Given the description of an element on the screen output the (x, y) to click on. 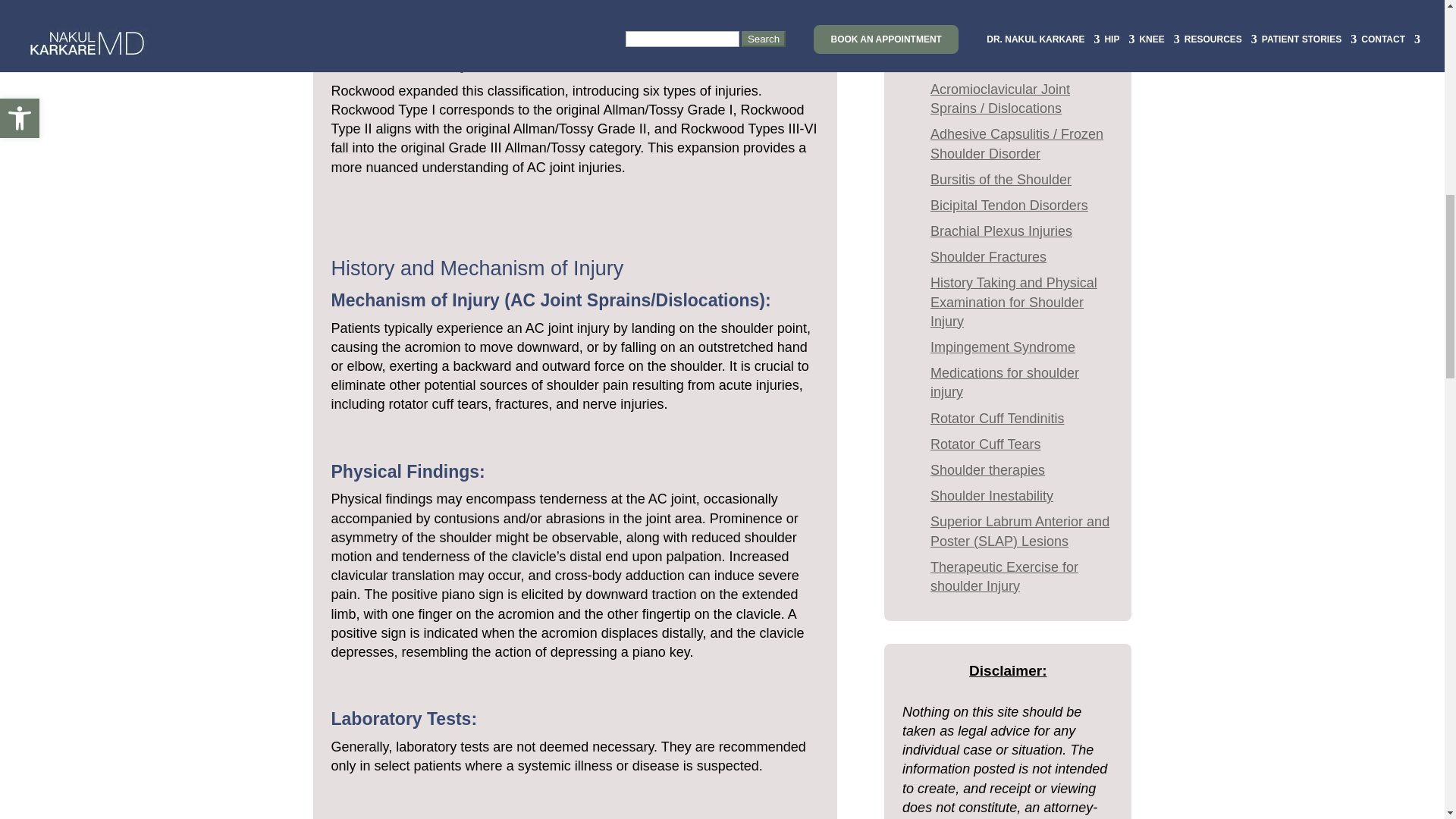
Impingement Syndrome (1002, 346)
Bicipital Tendon Disorders (1008, 205)
Shoulder Fractures (988, 256)
History Taking and Physical Examination for Shoulder Injury (1013, 301)
Shoulder Injury (976, 63)
Bursitis of the Shoulder (1000, 179)
Brachial Plexus Injuries (1000, 231)
